Given the description of an element on the screen output the (x, y) to click on. 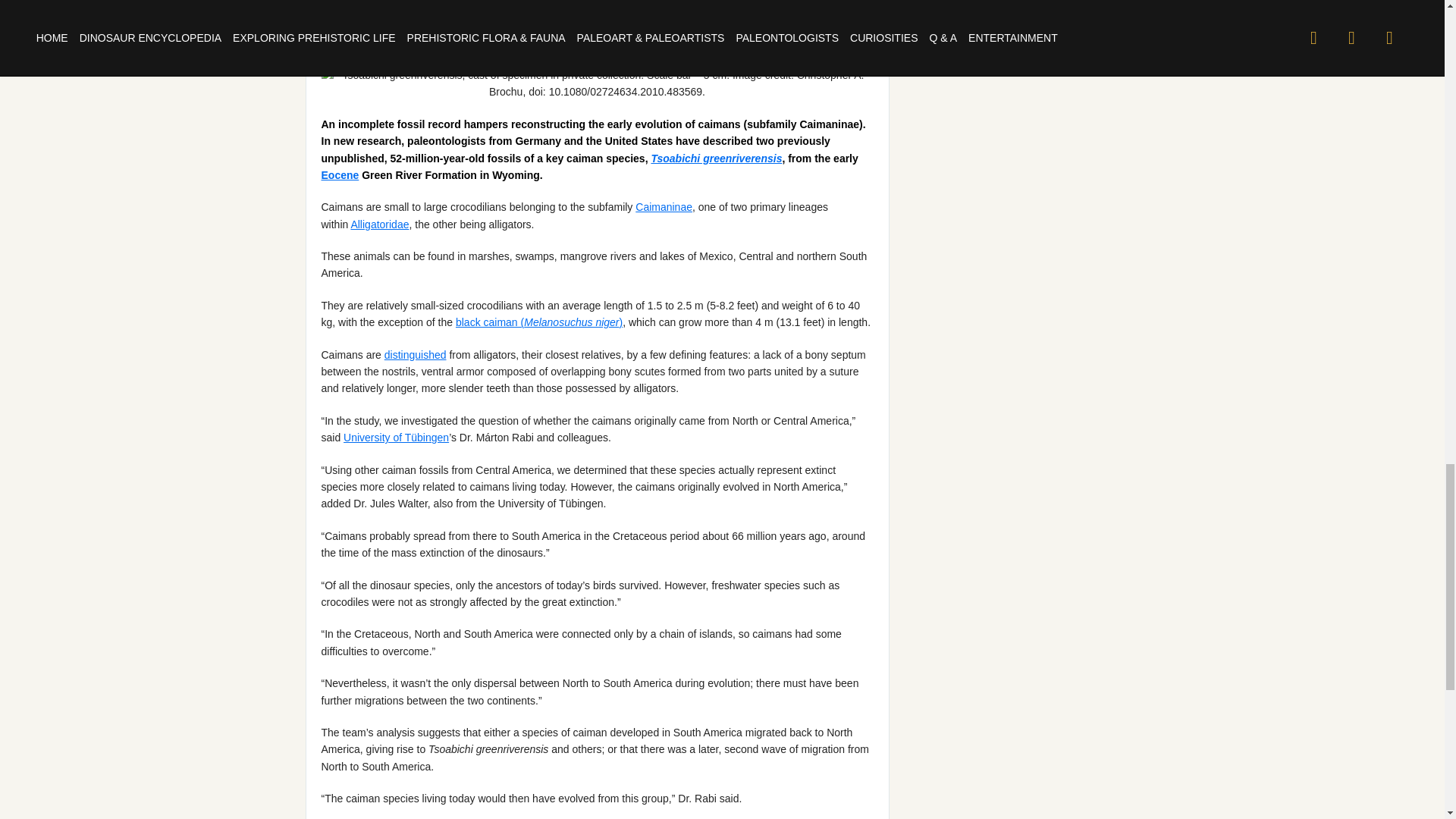
Caimaninae (663, 206)
Paleontologists (508, 13)
distinguished (415, 354)
Alligatoridae (379, 224)
Curiosities (594, 13)
Exploring Prehistoric Life (391, 13)
Tsoabichi greenriverensis (715, 158)
Eocene (340, 174)
